Given the description of an element on the screen output the (x, y) to click on. 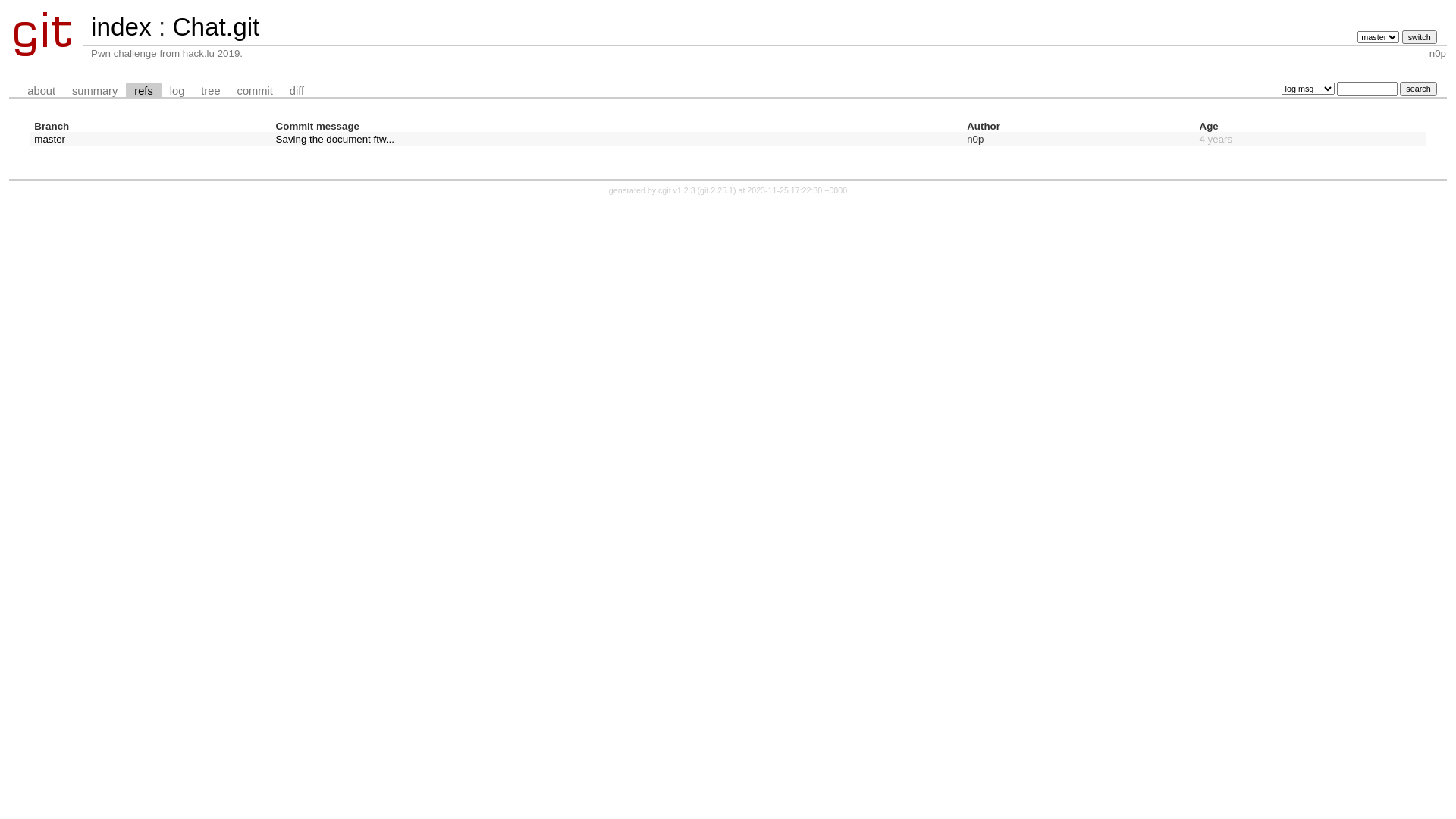
Chat.git Element type: text (215, 26)
master Element type: text (49, 138)
refs Element type: text (142, 90)
commit Element type: text (255, 90)
diff Element type: text (296, 90)
cgit v1.2.3 Element type: text (676, 189)
index Element type: text (121, 26)
about Element type: text (40, 90)
search Element type: text (1417, 88)
summary Element type: text (94, 90)
git 2.25.1 Element type: text (716, 189)
tree Element type: text (210, 90)
Saving the document ftw... Element type: text (335, 138)
log Element type: text (177, 90)
switch Element type: text (1419, 36)
